Given the description of an element on the screen output the (x, y) to click on. 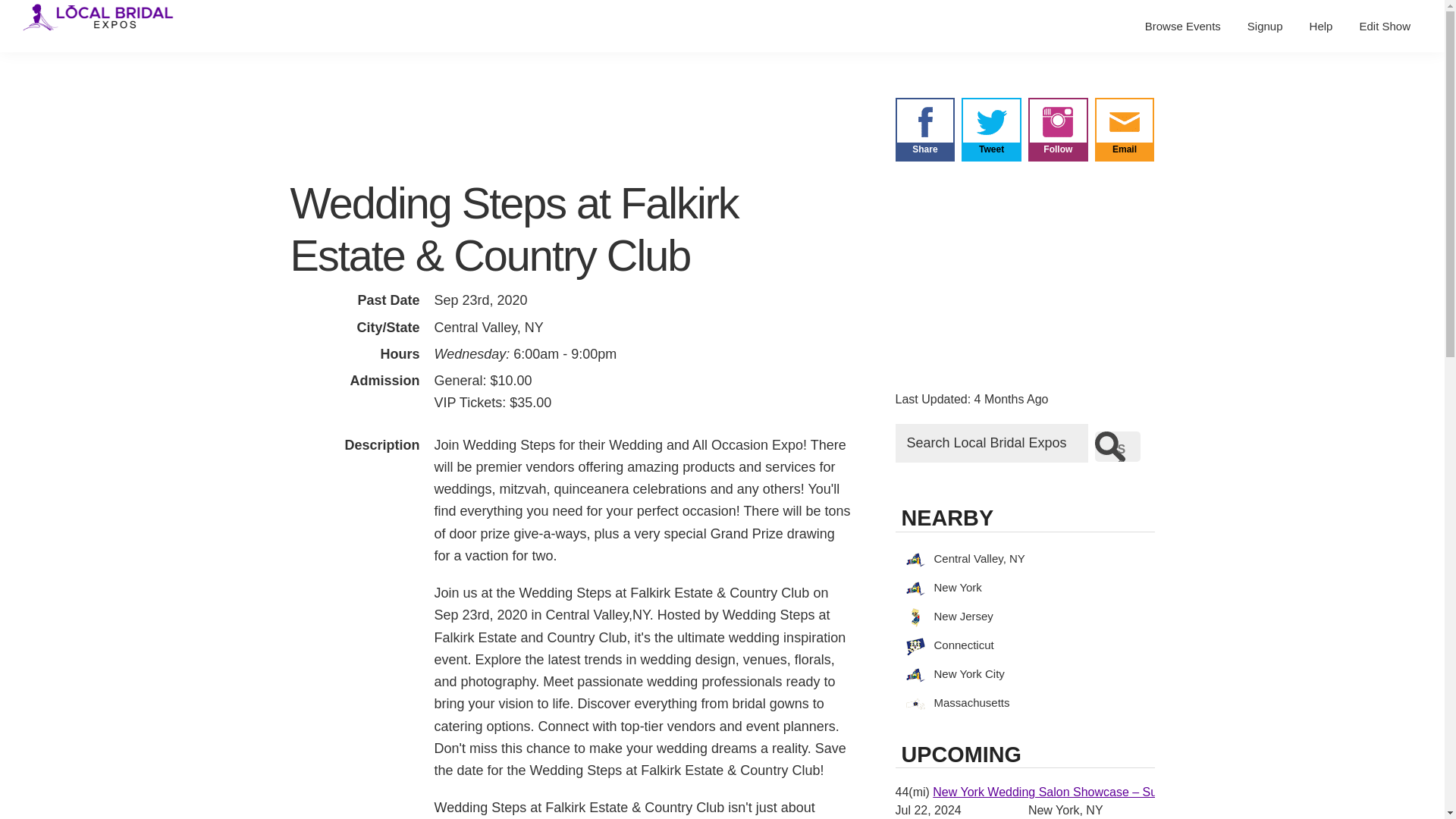
Follow (1057, 142)
Search (1117, 446)
Signup (1265, 25)
search (1117, 446)
Connecticut (1024, 645)
Email (1124, 142)
Massachusetts (1024, 702)
Tweet (991, 142)
Central Valley, NY bridal shows near me (1024, 558)
New York (1024, 588)
Edit Show (1385, 25)
New York City (1024, 674)
New Jersey (1024, 616)
Central Valley, NY (1024, 558)
